Given the description of an element on the screen output the (x, y) to click on. 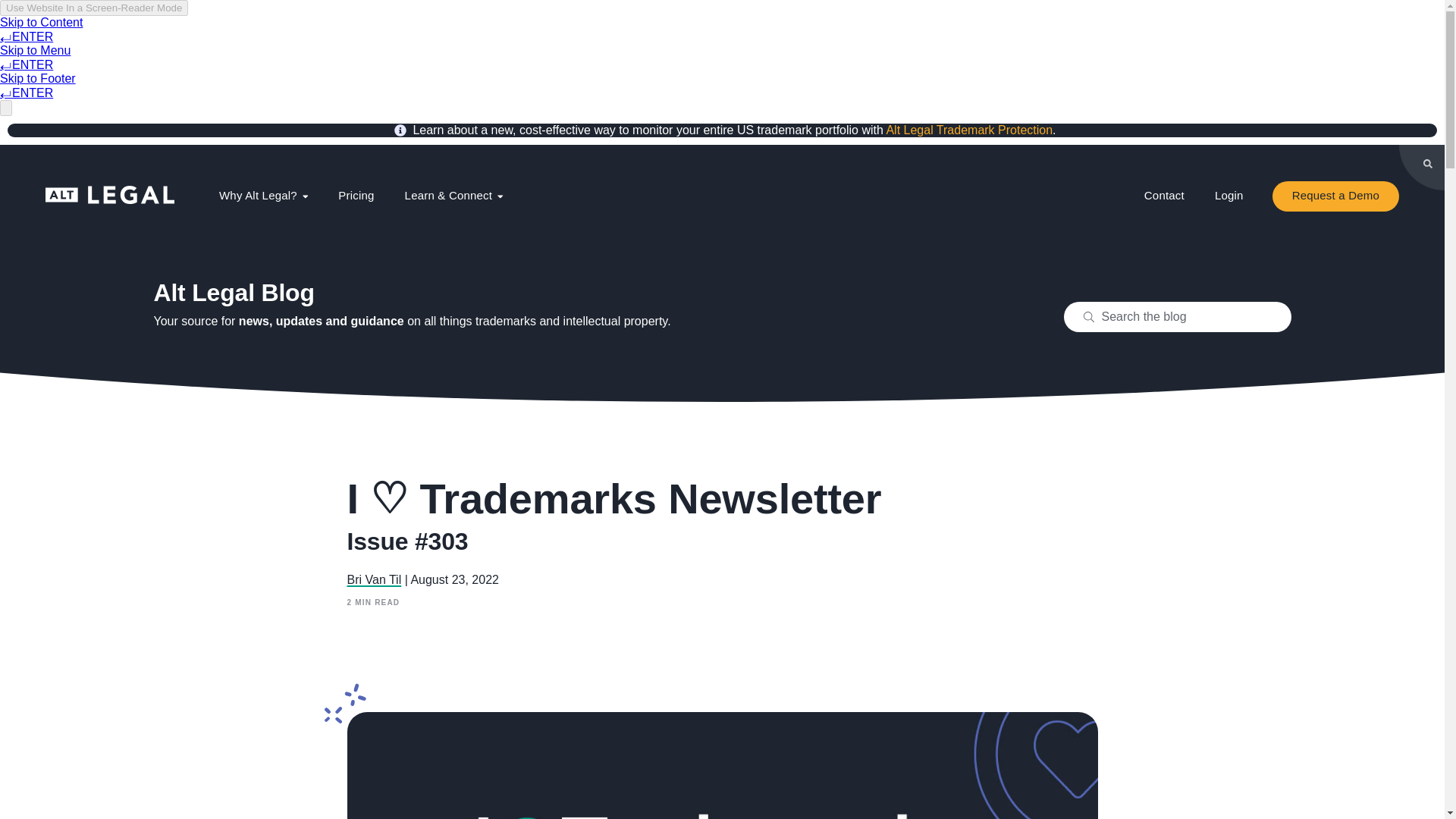
Pricing (355, 195)
Why Alt Legal? (263, 195)
Alt Legal Trademark Protection (968, 129)
